Given the description of an element on the screen output the (x, y) to click on. 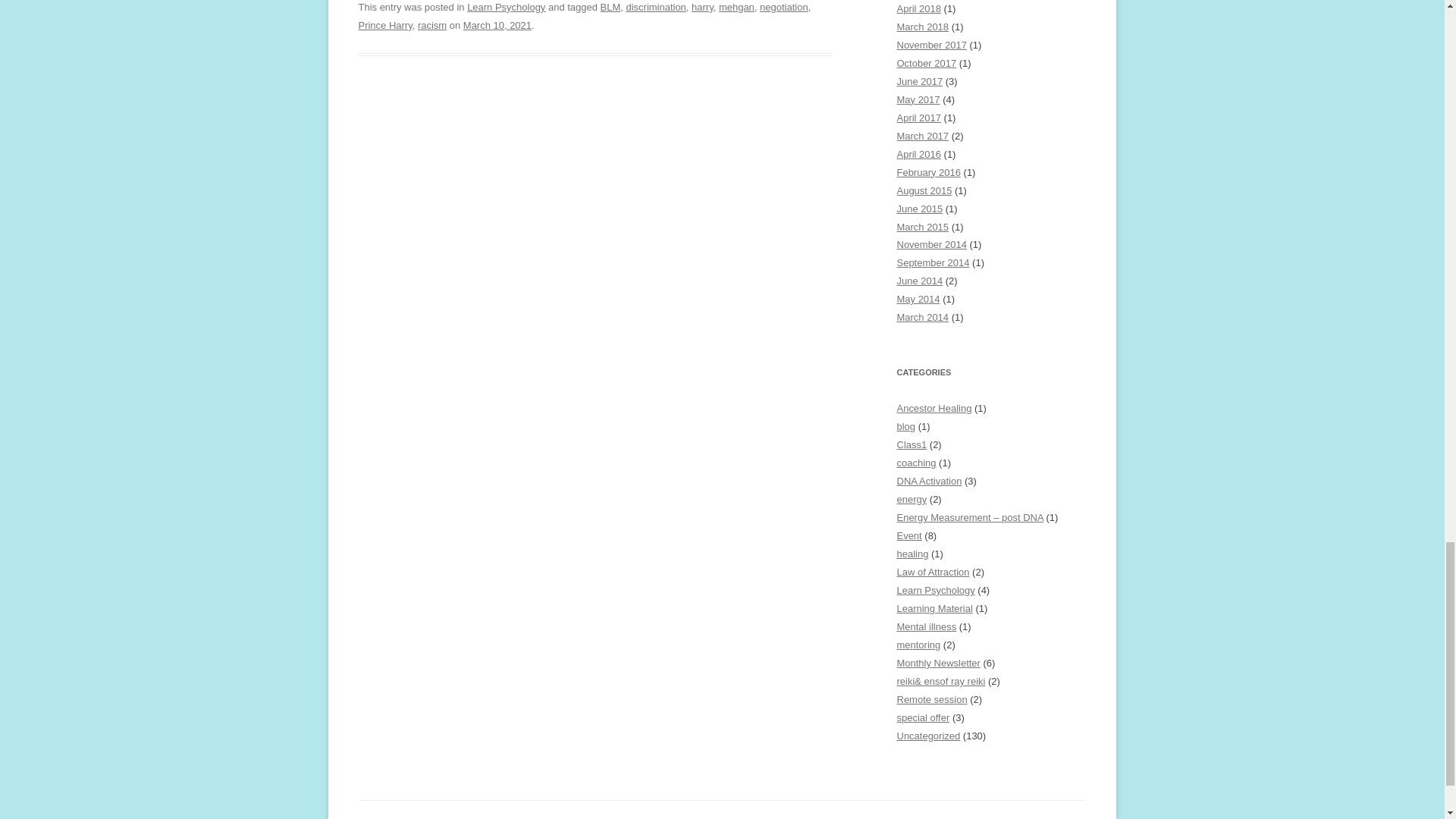
12:18 pm (497, 25)
